Given the description of an element on the screen output the (x, y) to click on. 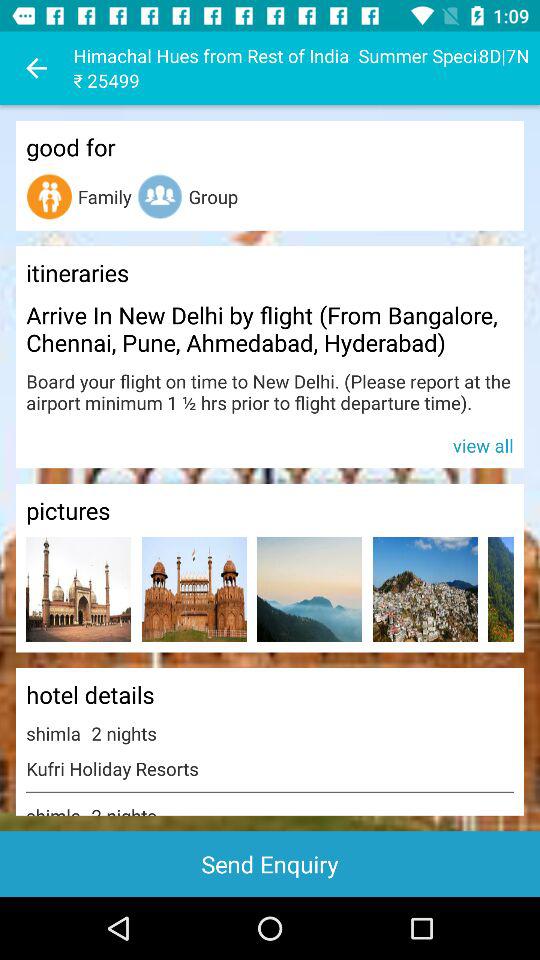
select item above hotel details icon (500, 588)
